Given the description of an element on the screen output the (x, y) to click on. 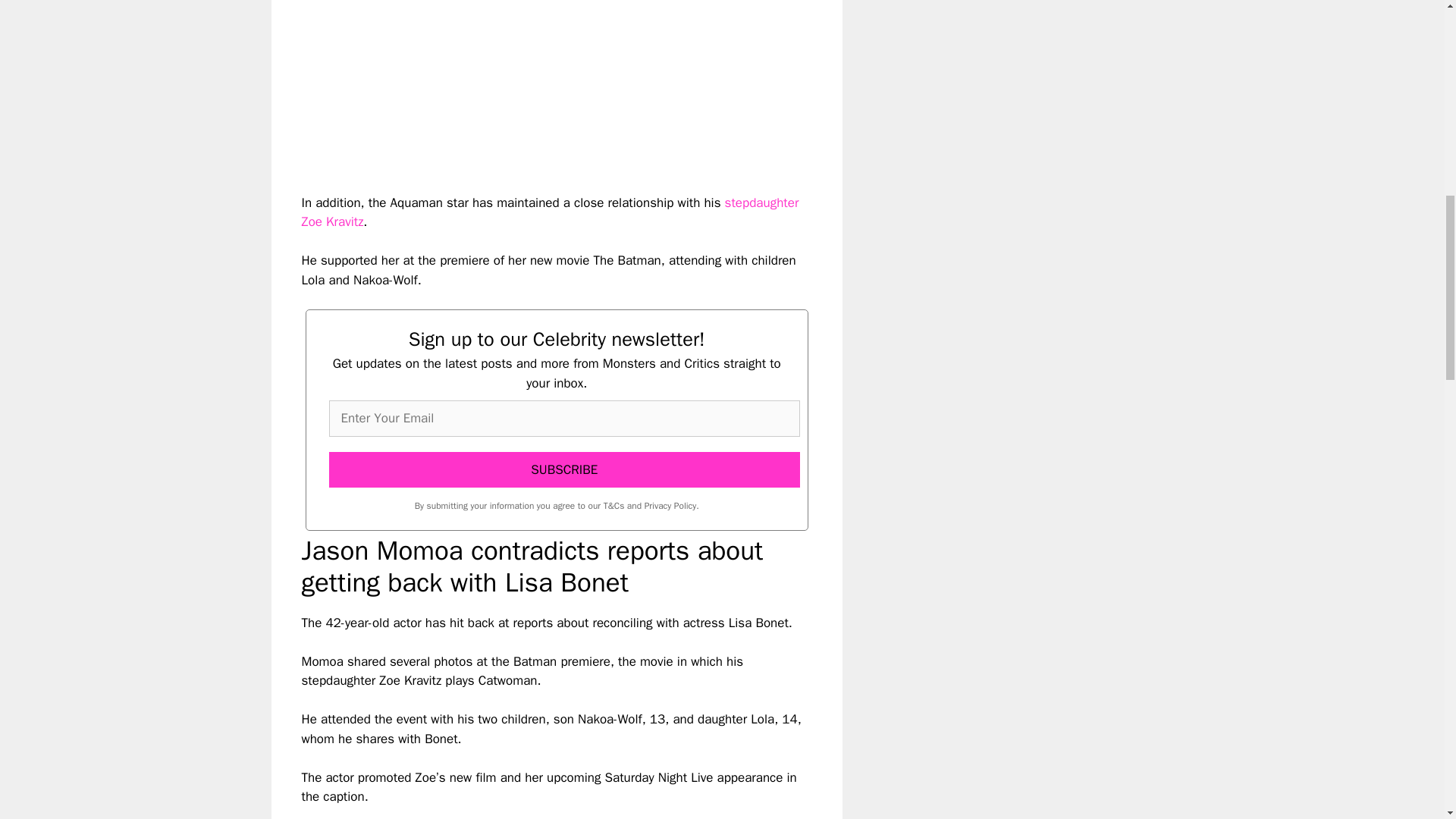
SUBSCRIBE (564, 470)
SUBSCRIBE (564, 470)
stepdaughter Zoe Kravitz (550, 212)
YouTube video player (513, 84)
